Given the description of an element on the screen output the (x, y) to click on. 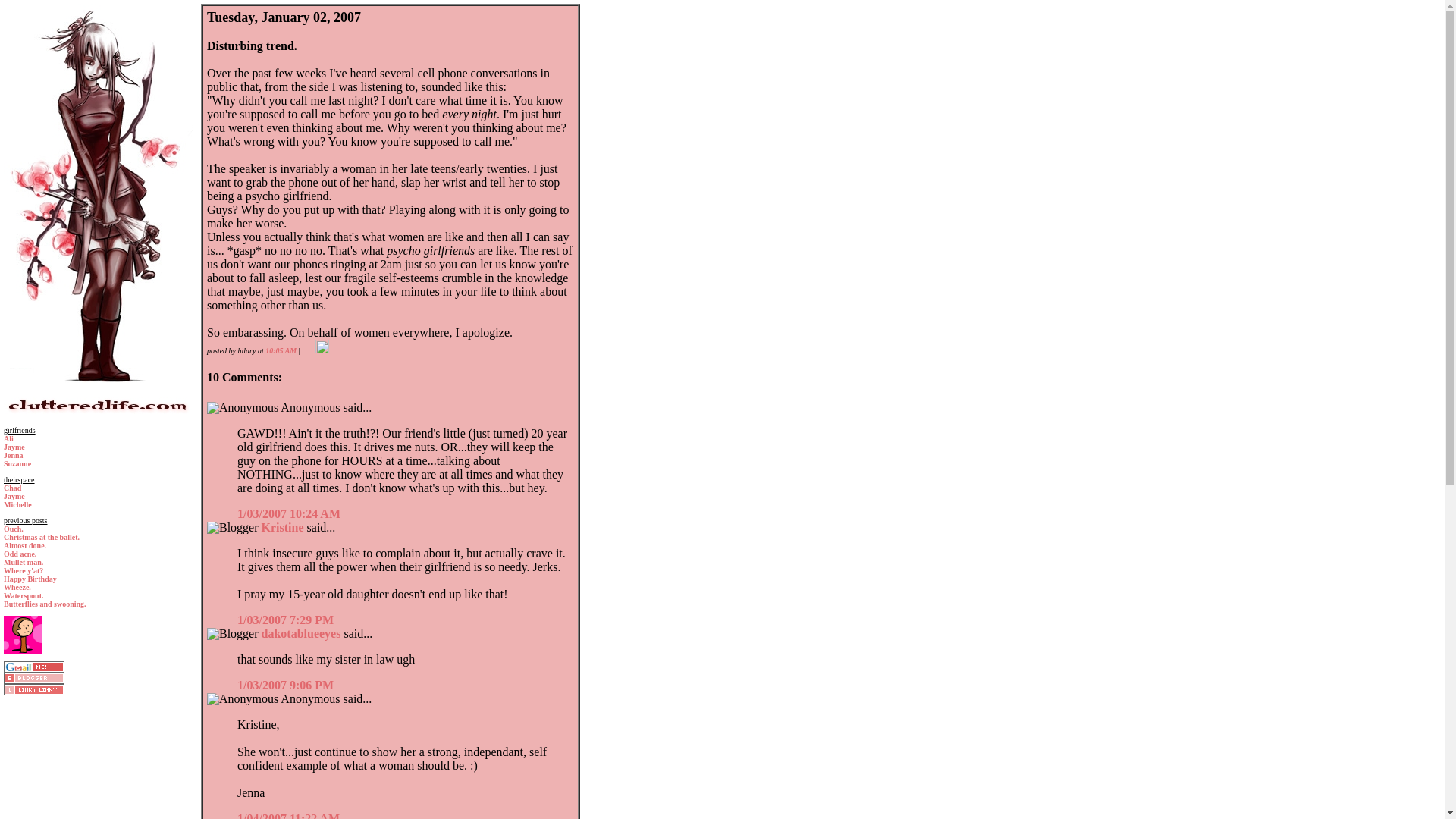
Jenna (13, 455)
Mullet man. (23, 561)
Michelle (18, 504)
comment permalink (285, 619)
Waterspout. (23, 595)
Odd acne. (20, 553)
Wheeze. (17, 587)
comment permalink (285, 684)
Jayme (14, 447)
Almost done. (25, 545)
